Given the description of an element on the screen output the (x, y) to click on. 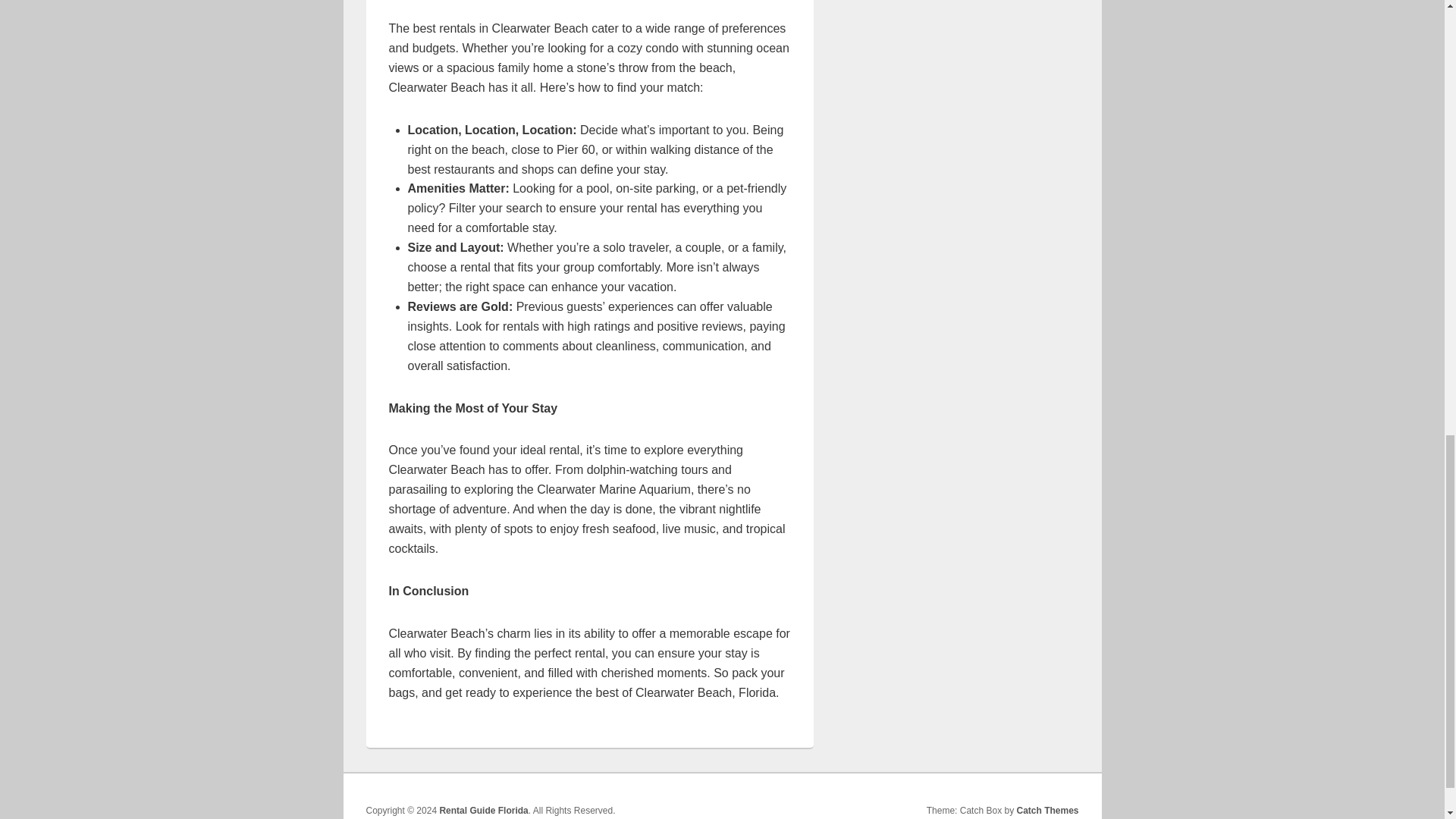
Catch Themes (1047, 810)
Rental Guide Florida (483, 810)
Catch Themes (1047, 810)
Rental Guide Florida (483, 810)
